Given the description of an element on the screen output the (x, y) to click on. 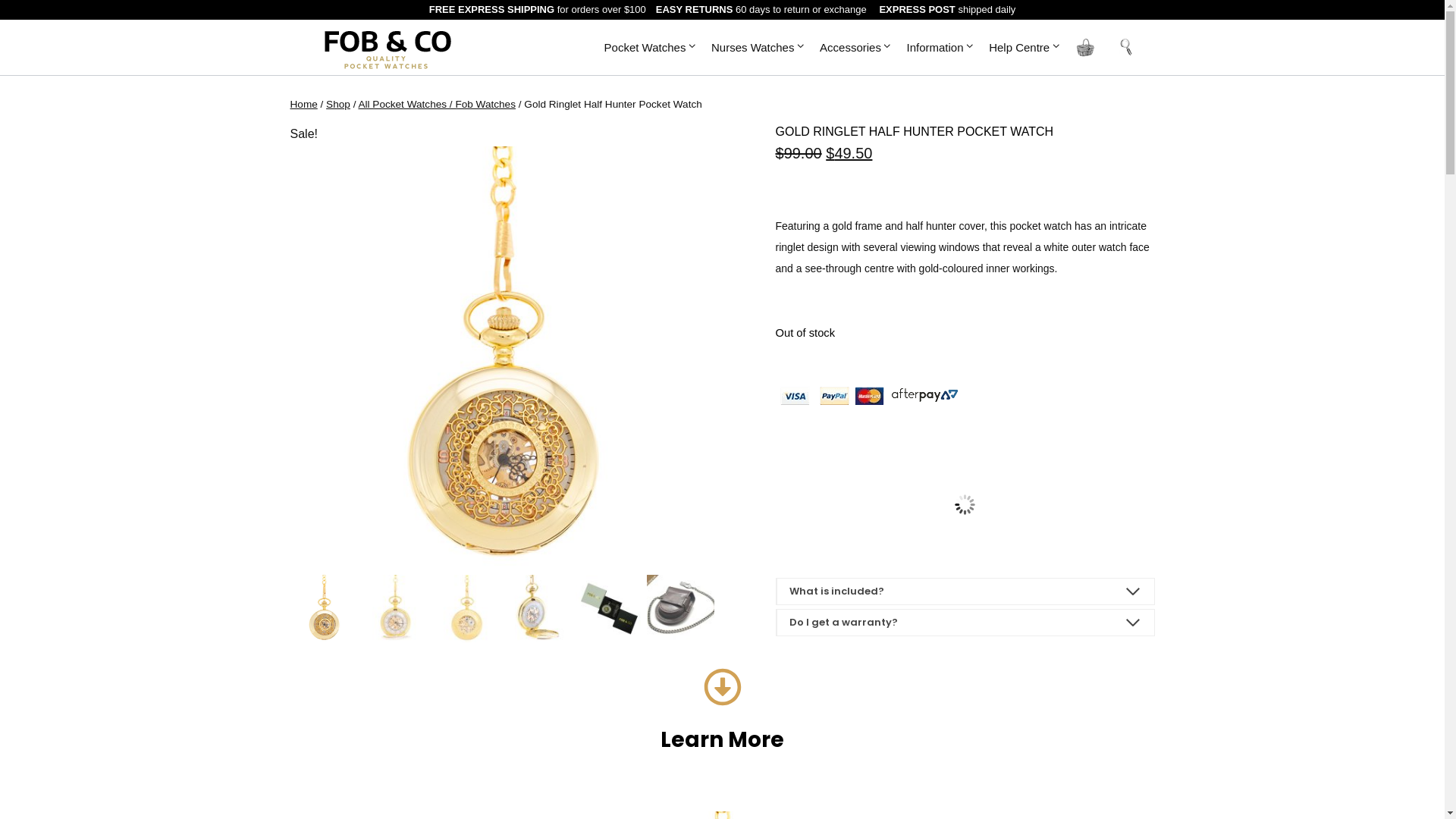
Do I get a warranty? Element type: text (964, 622)
Black Pocket Watch Chain Element type: text (964, 504)
Add to Cart Element type: text (964, 542)
Front-74 Element type: hover (501, 358)
Home Element type: text (302, 103)
All Pocket Watches / Fob Watches Element type: text (436, 103)
Nurses Watches Element type: text (758, 46)
Shop Element type: text (338, 103)
Accessories Element type: text (855, 46)
Help Centre Element type: text (1025, 46)
Pocket Watches Element type: text (649, 46)
Information Element type: text (940, 46)
What is included? Element type: text (964, 591)
